Given the description of an element on the screen output the (x, y) to click on. 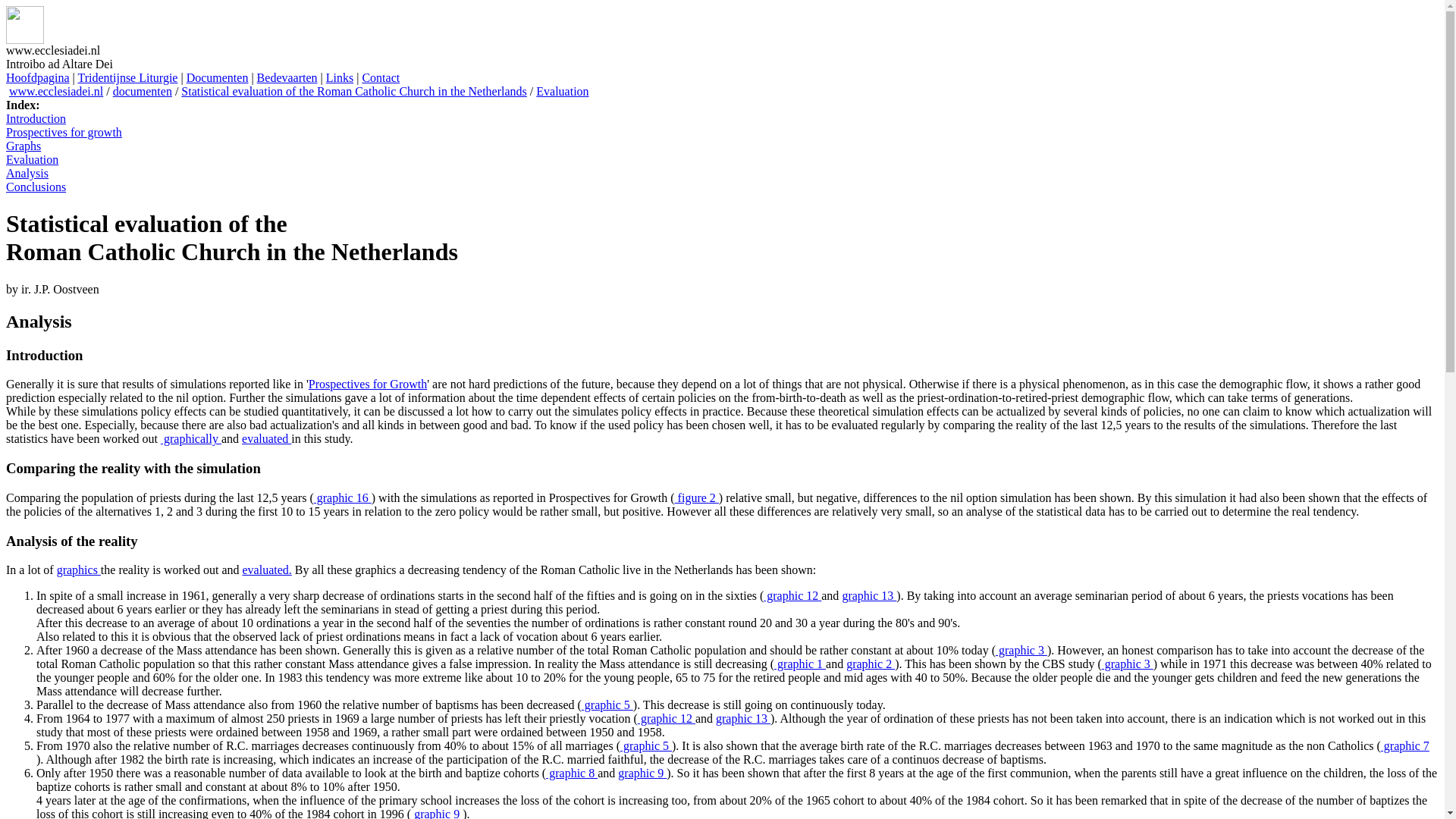
Prospectives for Growth (367, 383)
Evaluation (561, 91)
Contact (379, 77)
Tridentijnse Liturgie (127, 77)
Hoofdpagina (37, 77)
graphic 13 (743, 717)
graphic 9 (641, 772)
graphic 5 (606, 704)
Prospectives for growth (63, 132)
figure 2 (697, 497)
Graphs (22, 145)
Bedevaarten (287, 77)
evaluated. (266, 569)
Analysis (26, 173)
